Given the description of an element on the screen output the (x, y) to click on. 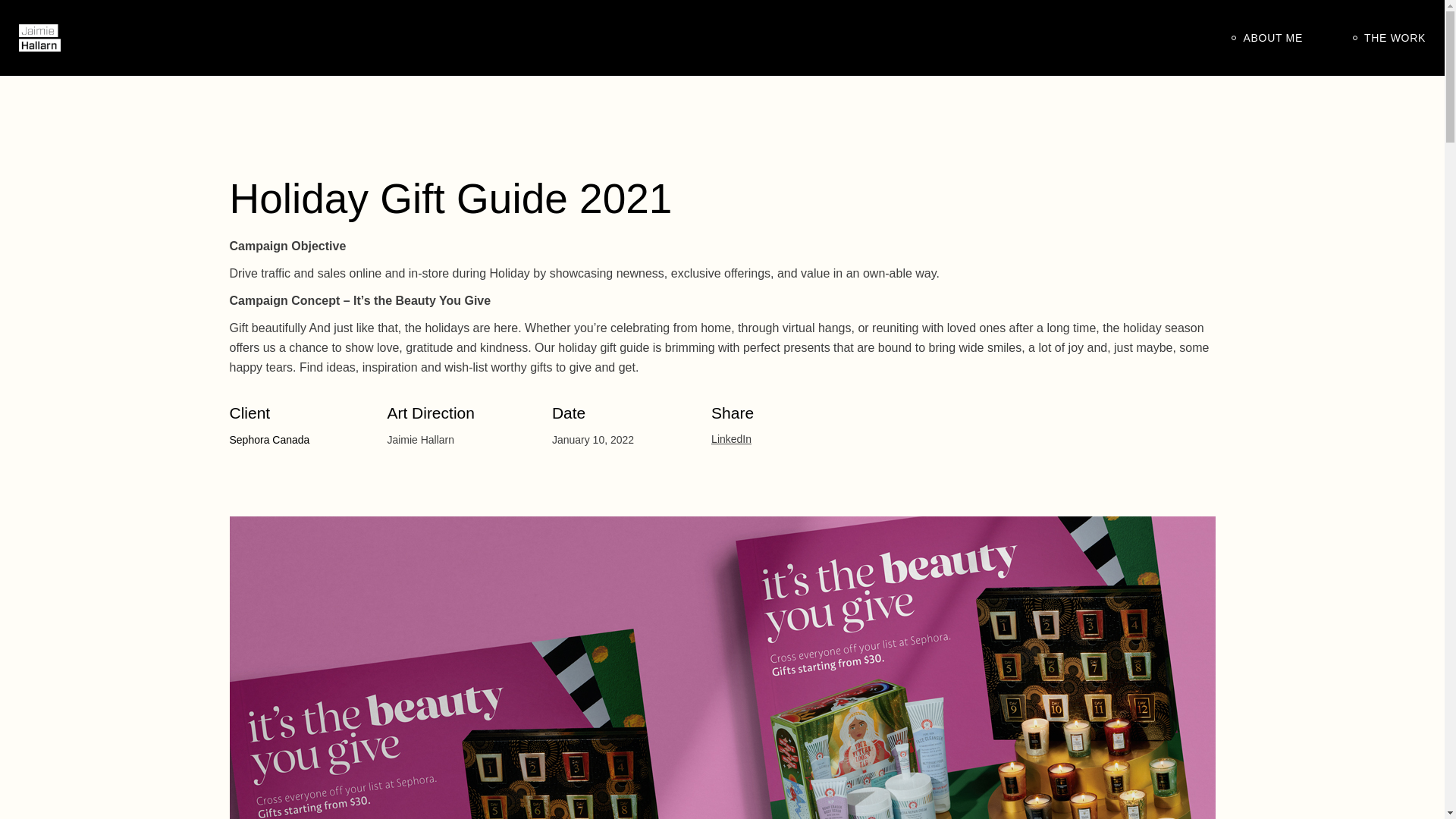
ABOUT ME (1266, 38)
LinkedIn (731, 439)
Sephora Canada (268, 439)
THE WORK (1388, 38)
